Given the description of an element on the screen output the (x, y) to click on. 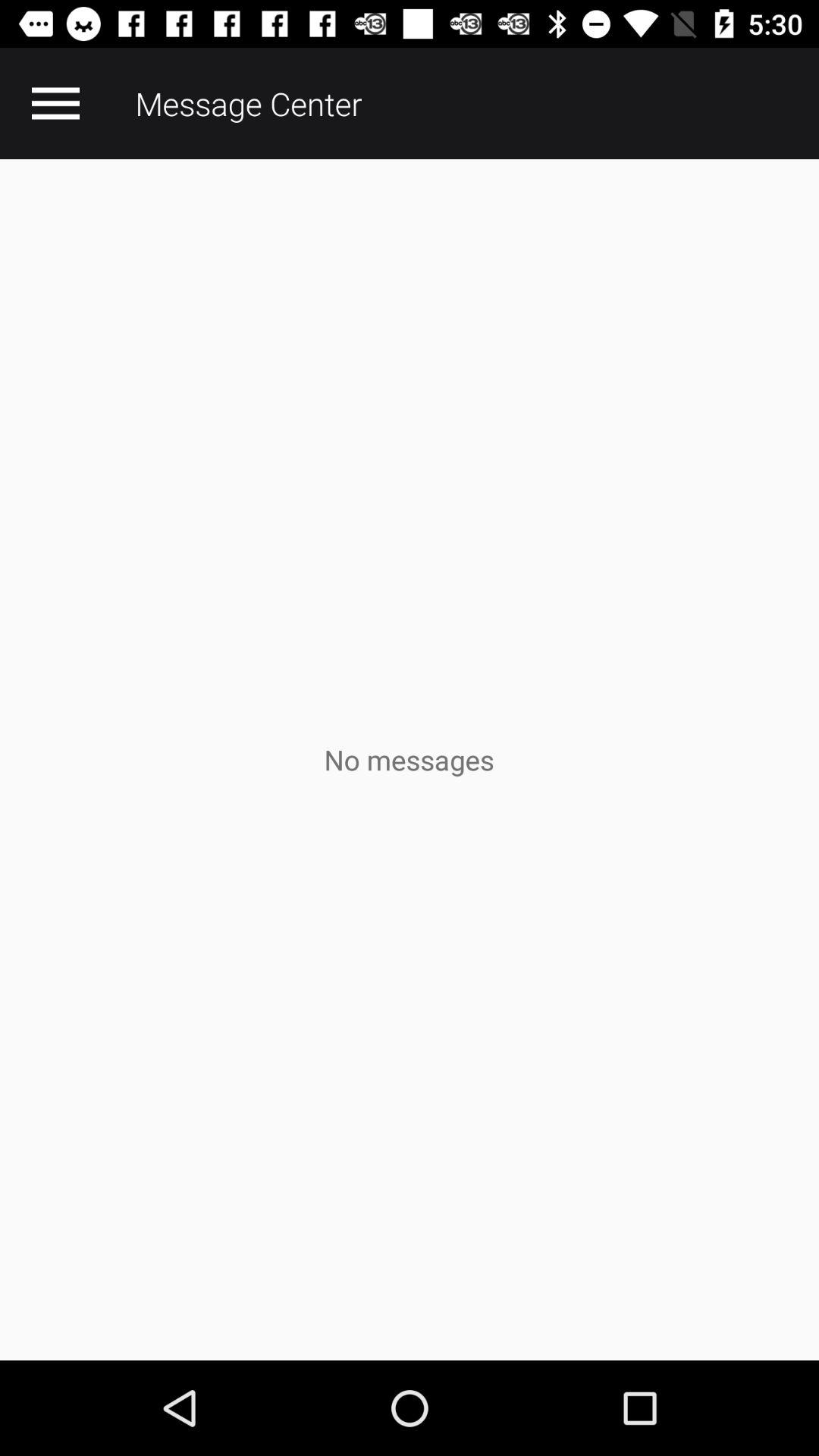
click the item at the top left corner (55, 103)
